Given the description of an element on the screen output the (x, y) to click on. 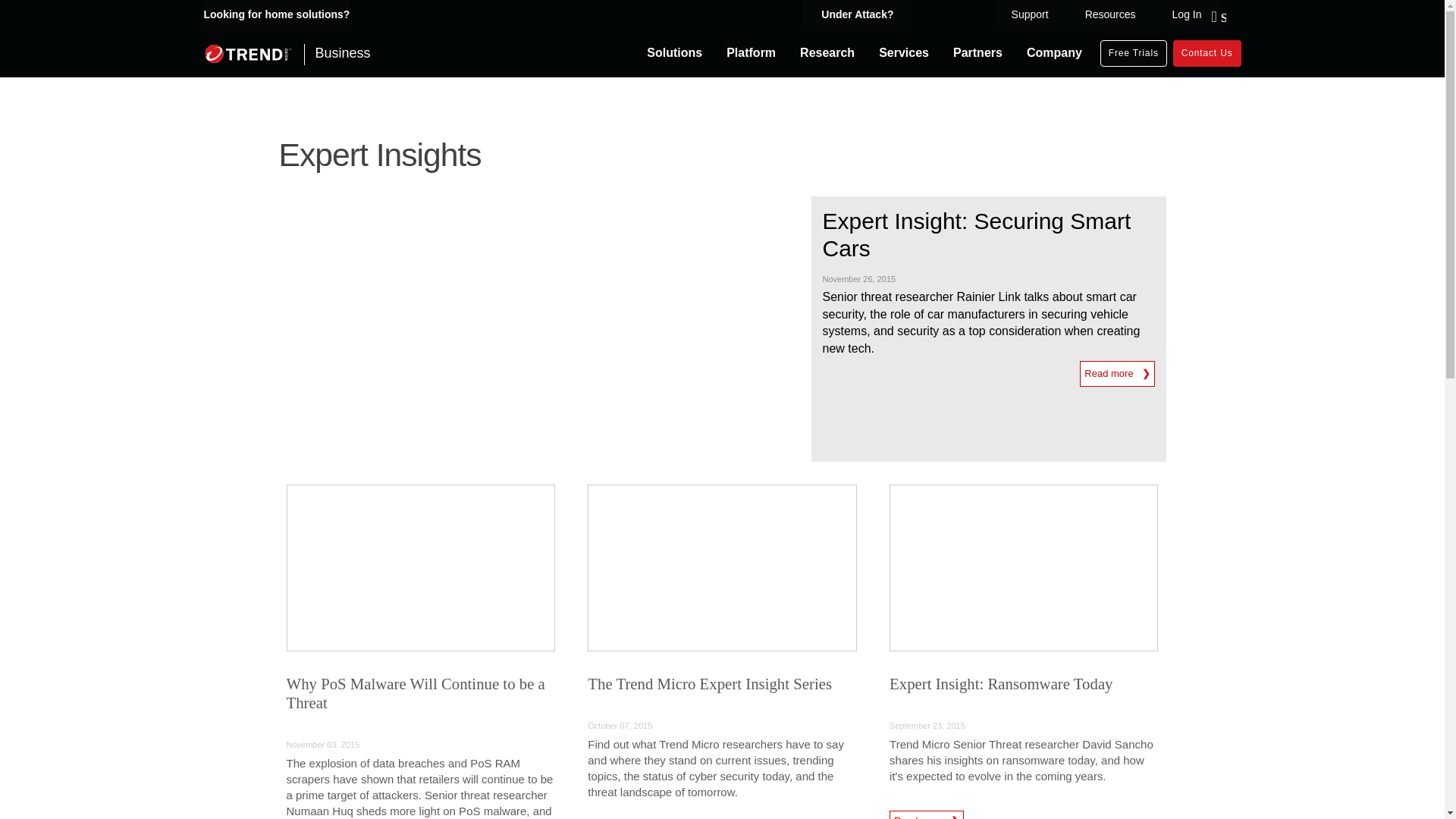
Business (286, 53)
